Given the description of an element on the screen output the (x, y) to click on. 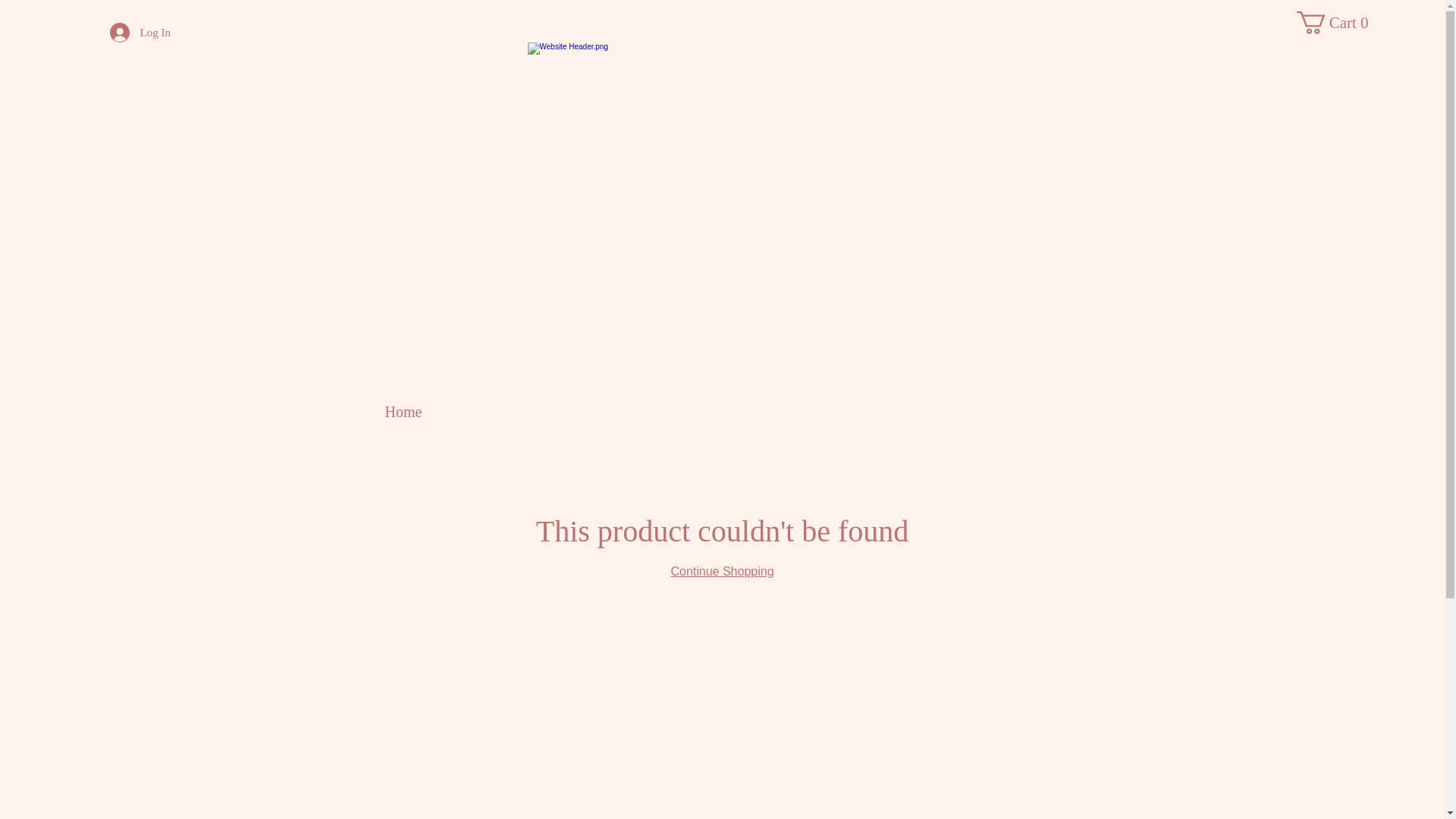
Continue Shopping Element type: text (721, 570)
Home Element type: text (403, 411)
Log In Element type: text (140, 32)
Cart
0 Element type: text (1337, 22)
